Given the description of an element on the screen output the (x, y) to click on. 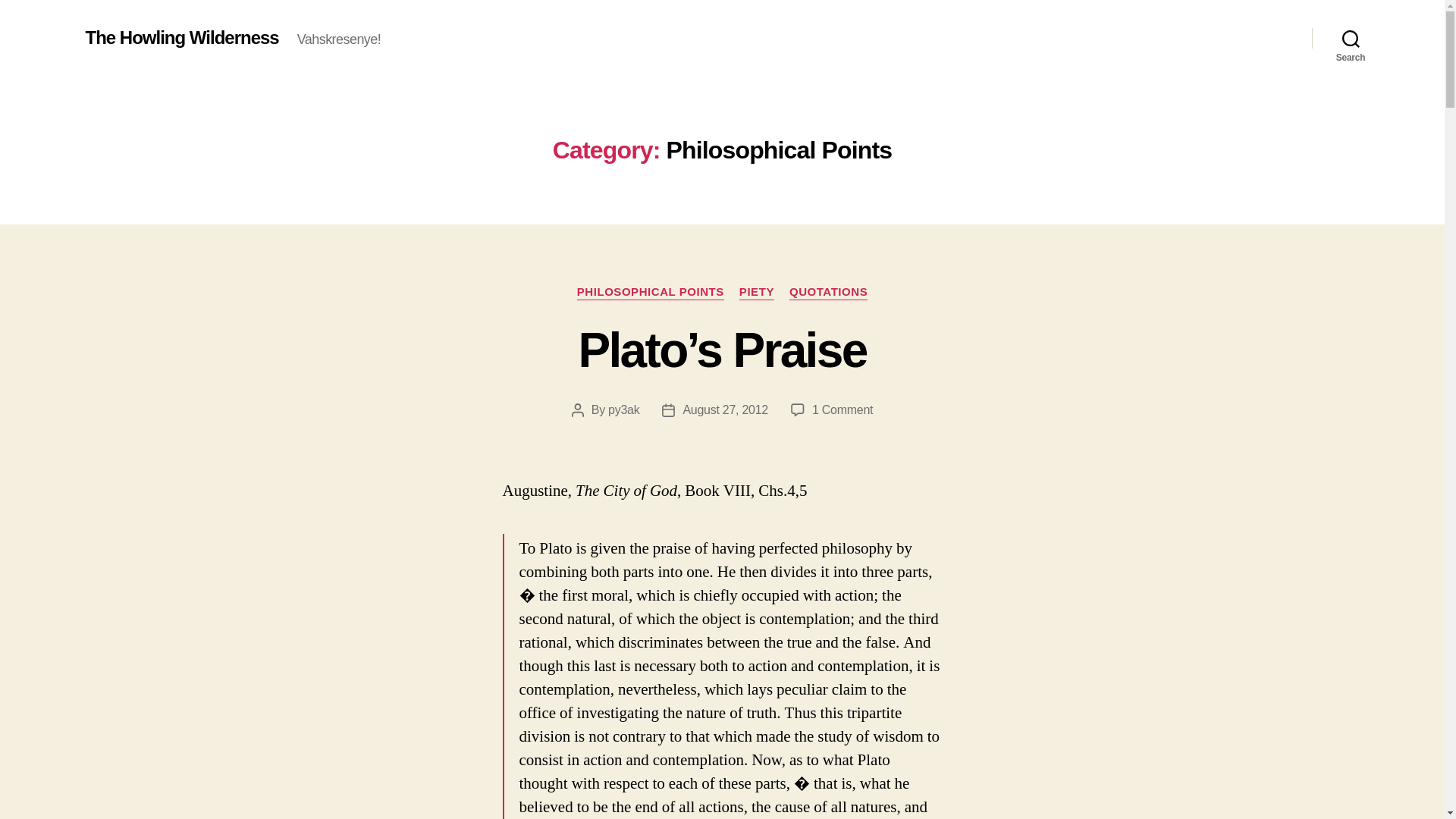
QUOTATIONS (828, 292)
py3ak (623, 409)
PIETY (756, 292)
PHILOSOPHICAL POINTS (649, 292)
The Howling Wilderness (181, 37)
Search (1350, 37)
August 27, 2012 (725, 409)
